Given the description of an element on the screen output the (x, y) to click on. 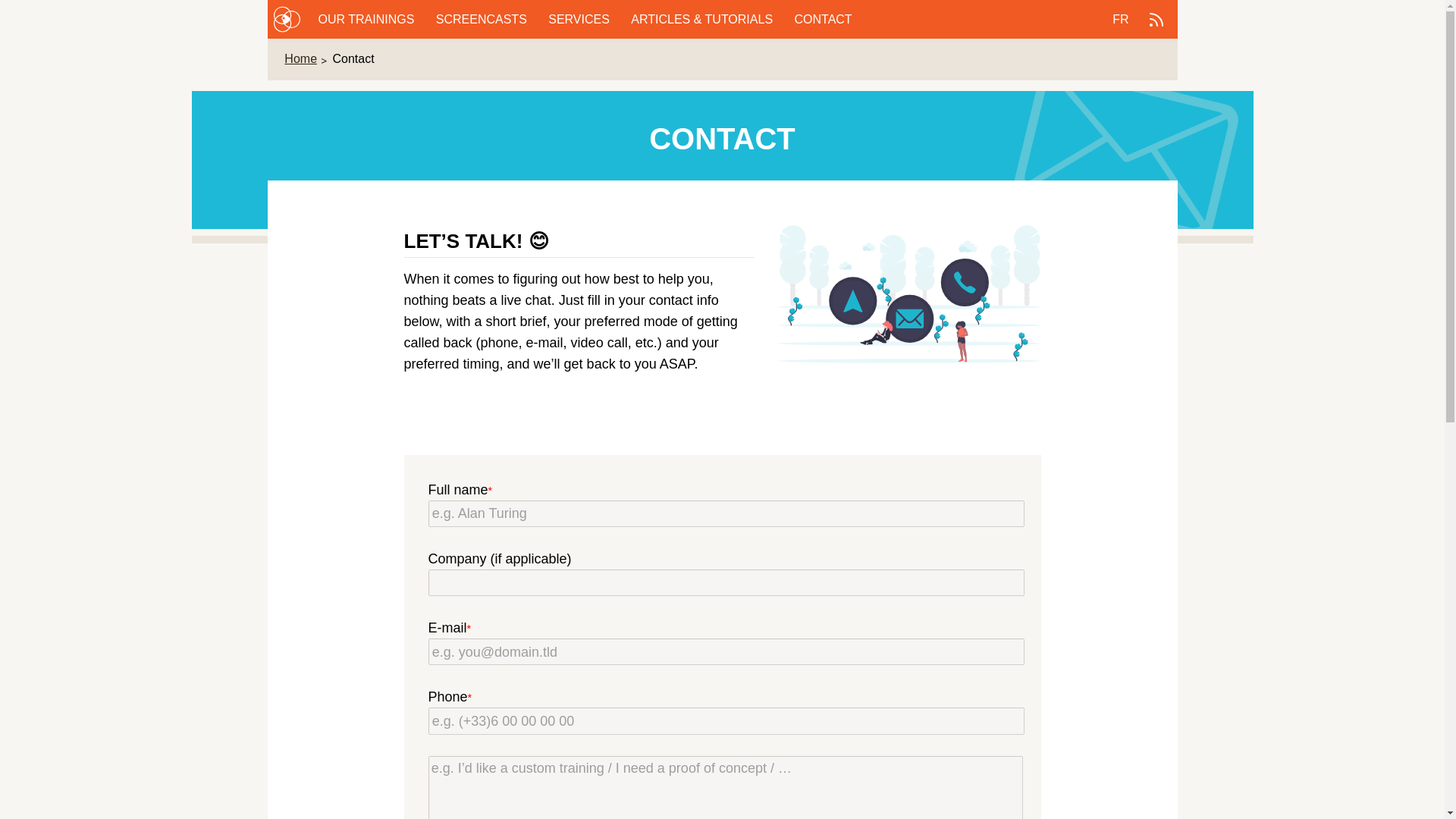
SERVICES (580, 18)
Home (306, 58)
SCREENCASTS (482, 18)
FR (1120, 19)
Home (286, 18)
OUR TRAININGS (367, 18)
CONTACT (822, 18)
